Given the description of an element on the screen output the (x, y) to click on. 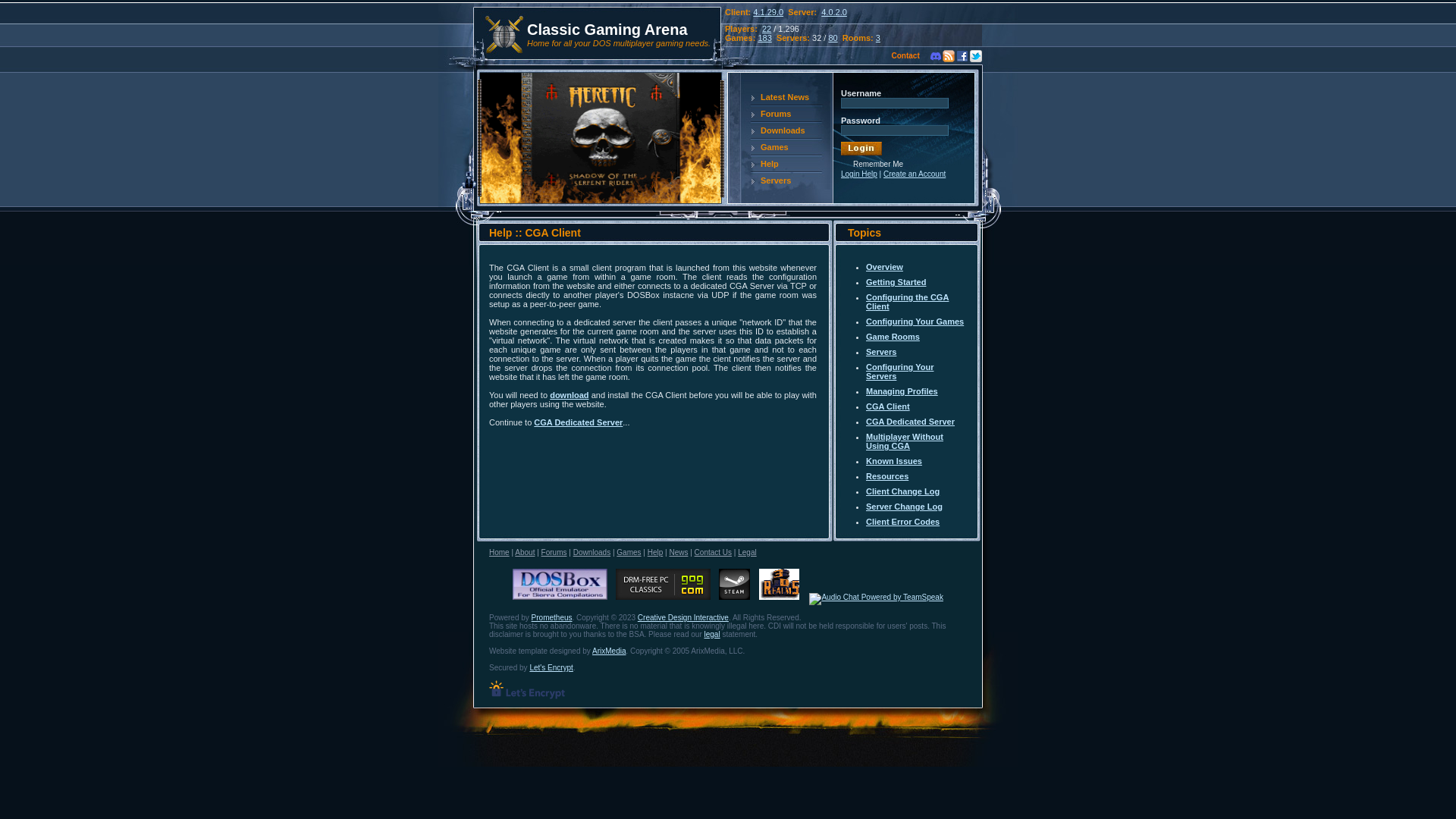
Known Issues (893, 461)
Getting Started (896, 281)
3D Realms (777, 583)
Client Change Log (902, 491)
CGA Dedicated Server (910, 420)
Servers (758, 180)
Follow us Facebook (962, 55)
Downloads (765, 130)
Servers (881, 351)
Configuring the CGA Client (907, 301)
